Given the description of an element on the screen output the (x, y) to click on. 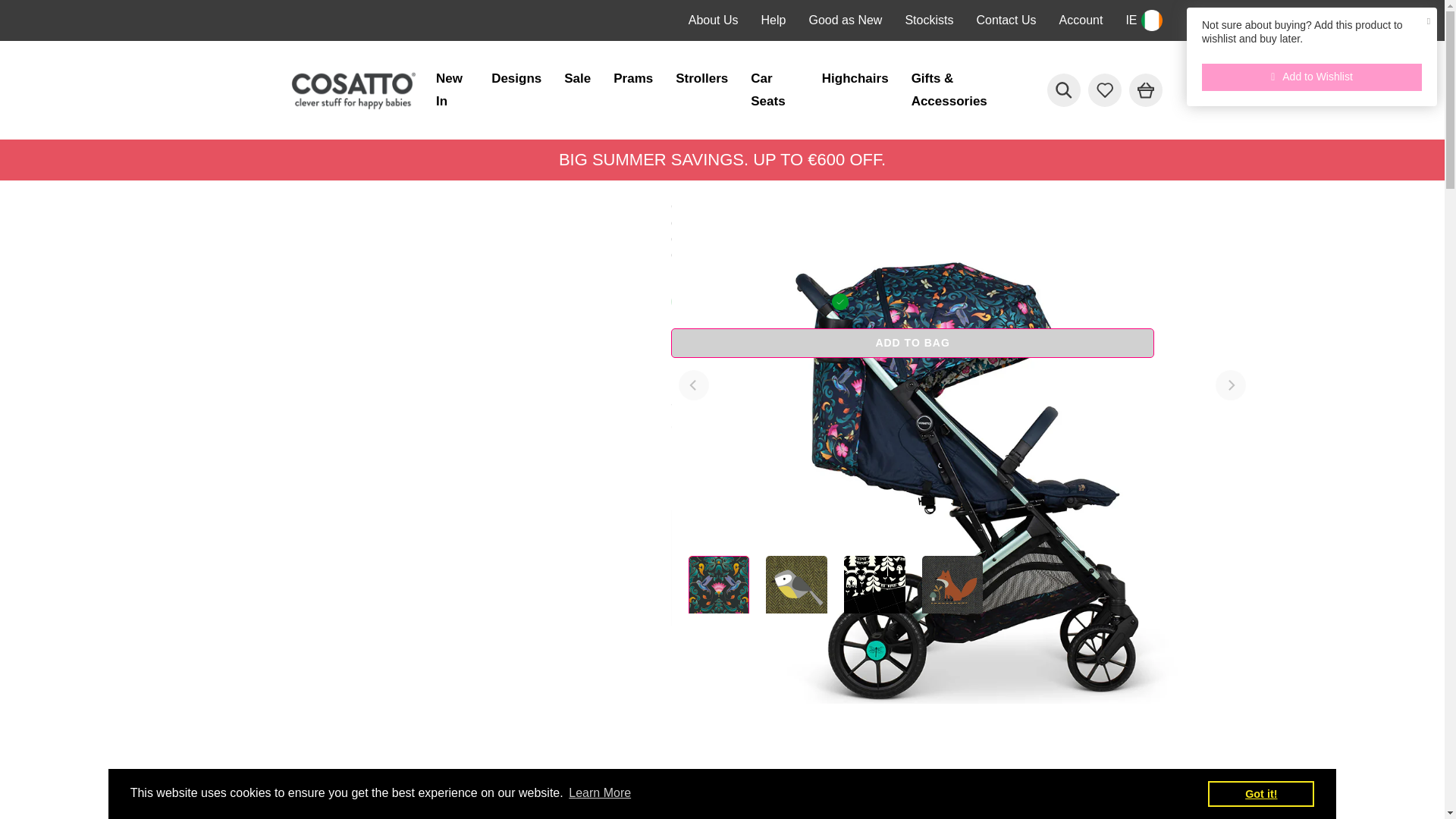
Learn More (599, 792)
Designs (516, 78)
Account (1081, 19)
Account (1081, 19)
Got it! (1261, 793)
Contact Us (1005, 19)
Good as New (845, 19)
Help (773, 19)
Stockists (928, 19)
About Us (713, 19)
